Given the description of an element on the screen output the (x, y) to click on. 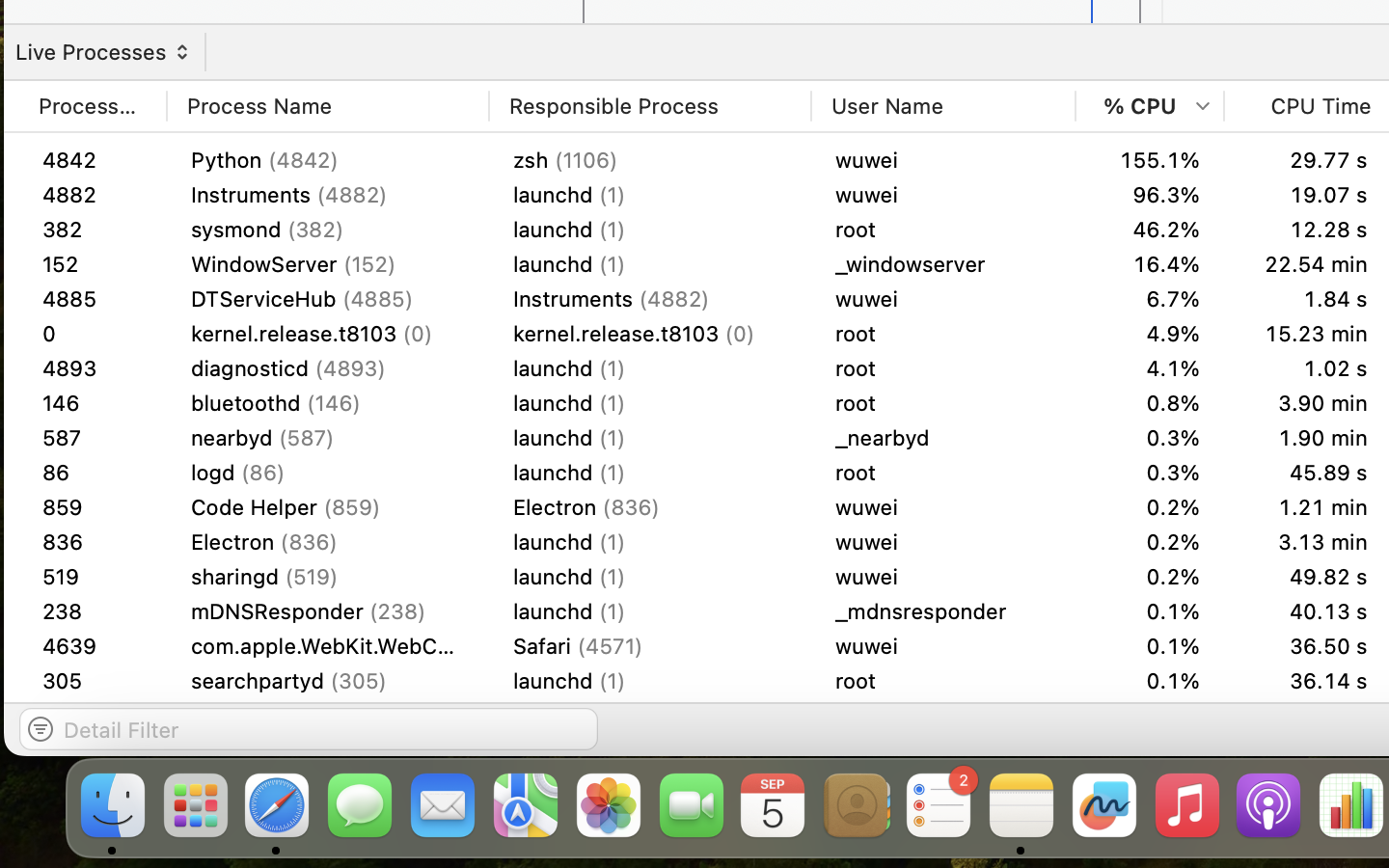
527.64 ms Element type: AXStaticText (1307, 298)
9.88 s Element type: AXStaticText (1307, 402)
searchpartyd (305) Element type: AXStaticText (327, 680)
Notes (2391) Element type: AXStaticText (649, 749)
382 Element type: AXStaticText (92, 229)
